Given the description of an element on the screen output the (x, y) to click on. 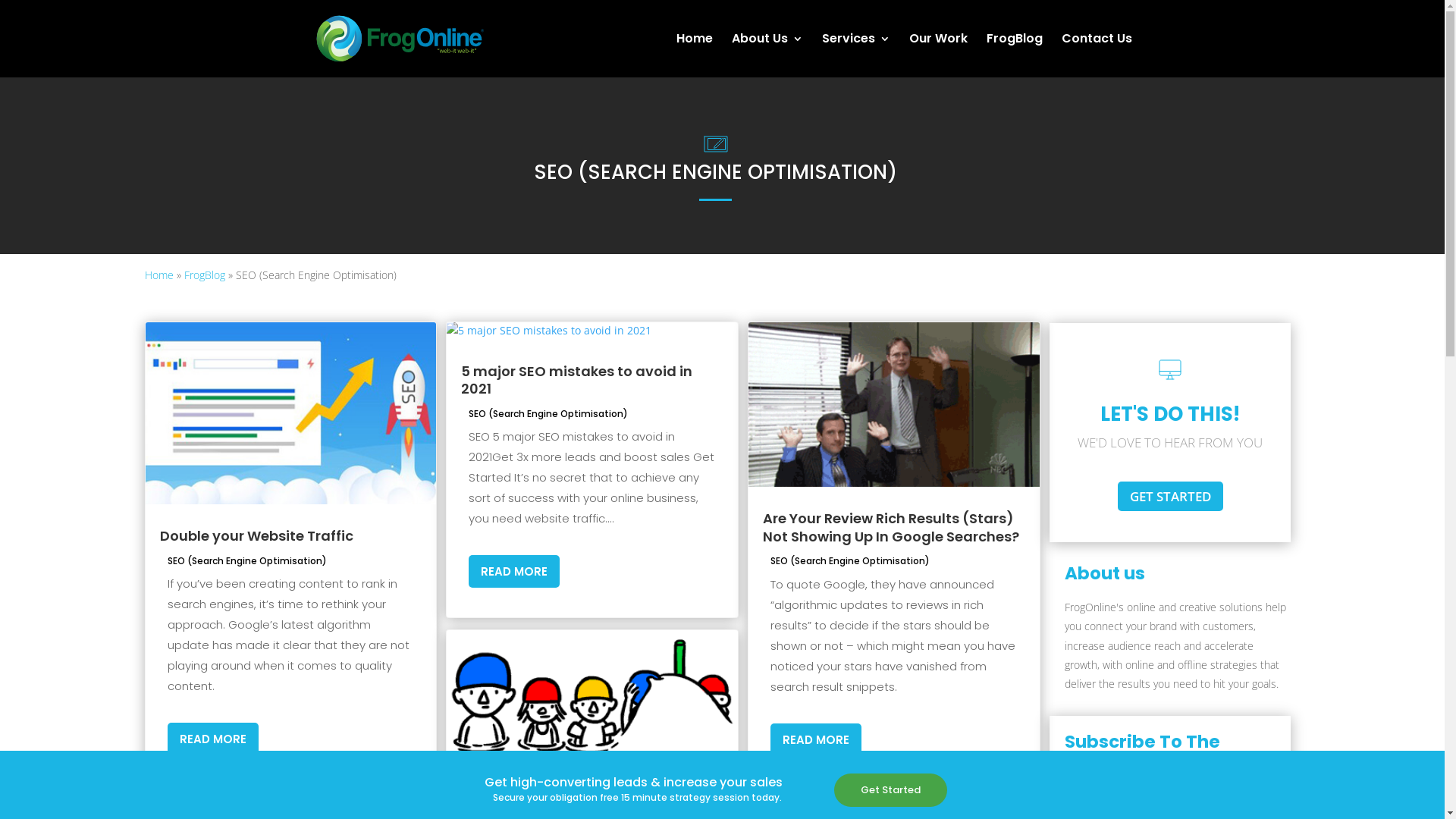
1300 376 466 Element type: text (803, 546)
SEO (Search Engine Optimisation) Element type: text (547, 413)
Contact us Element type: text (553, 599)
READ MORE Element type: text (211, 738)
Home Element type: text (158, 274)
Graphic & Branding Studio Element type: text (588, 498)
Double your Website Traffic Element type: text (255, 535)
Services Element type: text (856, 55)
About us Element type: text (549, 548)
The Power of Follow-Ups: Unlocking Sales Success Element type: text (1051, 490)
SEO (Search Engine Optimisation) Element type: text (849, 560)
GET STARTED Element type: text (1170, 496)
webit@frogonline.com.au Element type: text (802, 597)
Contact Us Element type: text (1096, 55)
Our Work Element type: text (548, 565)
Digital Marketing Element type: text (565, 532)
Terms of Use Element type: text (608, 798)
Our Work Element type: text (937, 55)
Home Element type: text (694, 55)
PPL Marketing Element type: text (558, 515)
READ MORE Element type: text (815, 739)
9 Essential Elements for Your Website Optimisation Strategy Element type: text (1040, 583)
About Us Element type: text (766, 55)
SEO (Search Engine Optimisation) Element type: text (246, 560)
READ MORE Element type: text (513, 571)
FrogBlog Element type: text (203, 274)
5 major SEO mistakes to avoid in 2021 Element type: text (576, 379)
Privacy Policy Element type: text (531, 798)
Web Design & Development Element type: text (591, 482)
FrogBlog Element type: text (1013, 55)
FrogBlog Element type: text (548, 582)
Support Element type: text (547, 615)
Get Started Element type: text (890, 789)
